Given the description of an element on the screen output the (x, y) to click on. 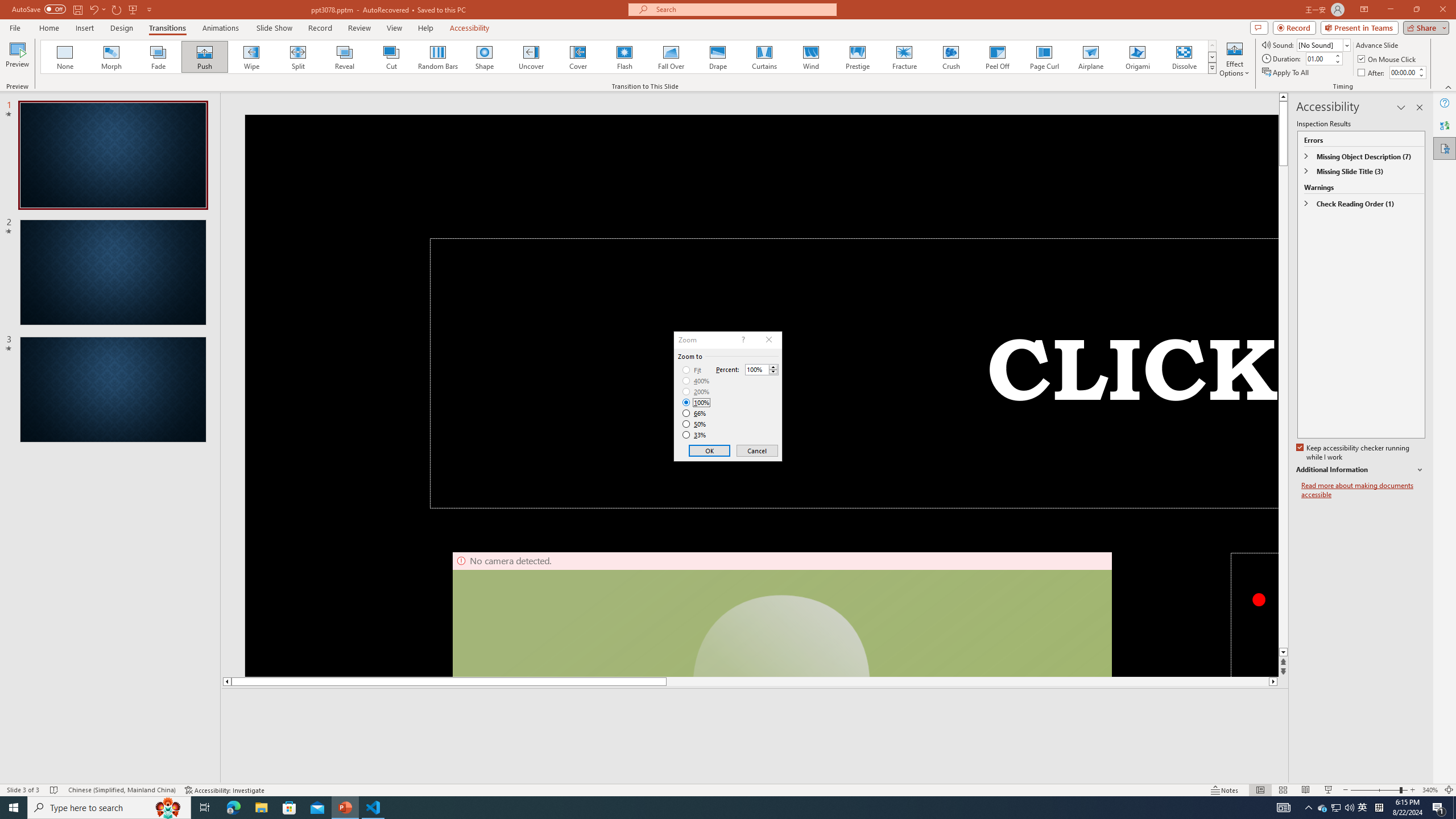
Fracture (903, 56)
None (65, 56)
Dissolve (1183, 56)
Fade (158, 56)
